Given the description of an element on the screen output the (x, y) to click on. 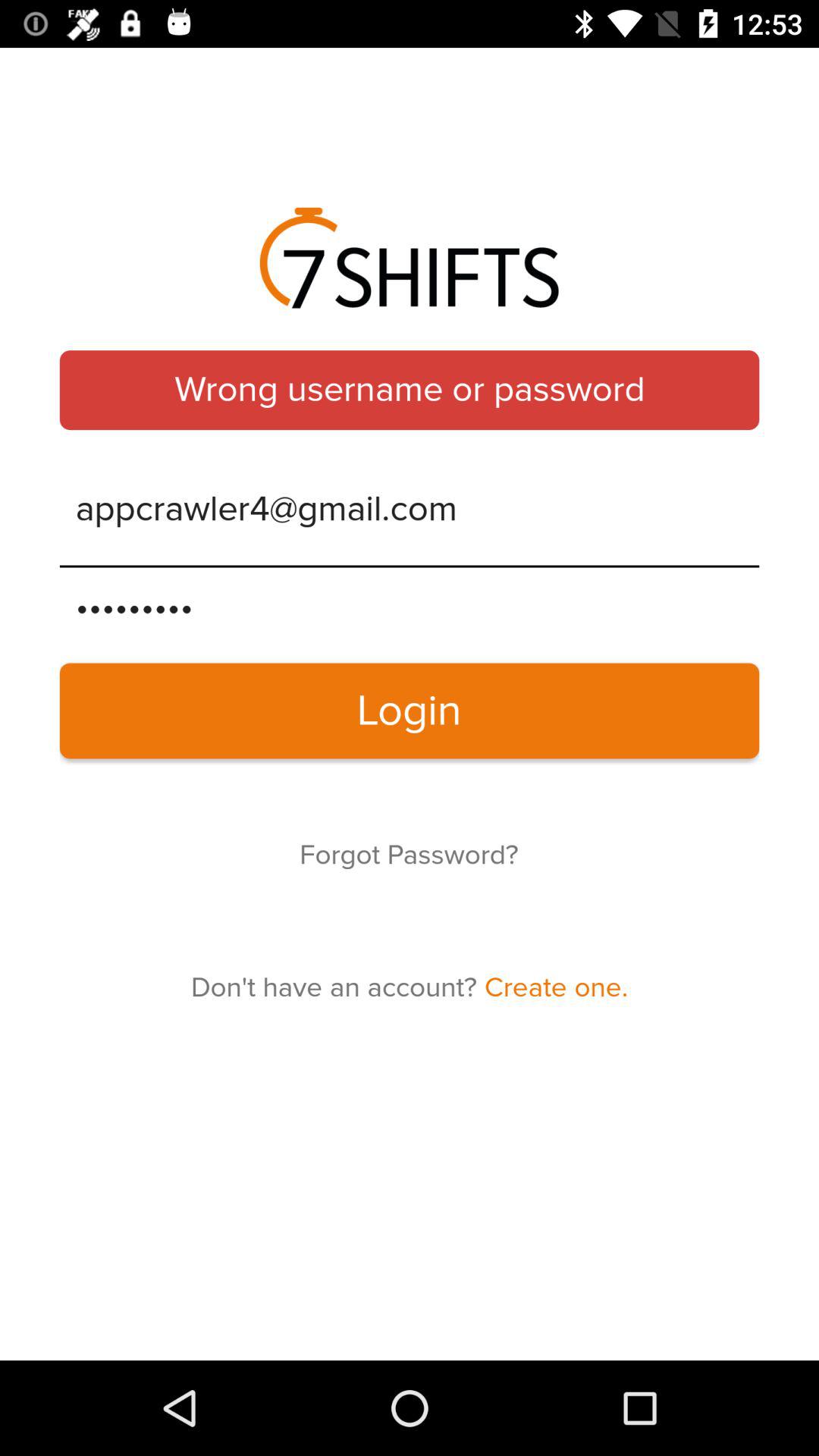
turn on item below the forgot password? icon (409, 987)
